Given the description of an element on the screen output the (x, y) to click on. 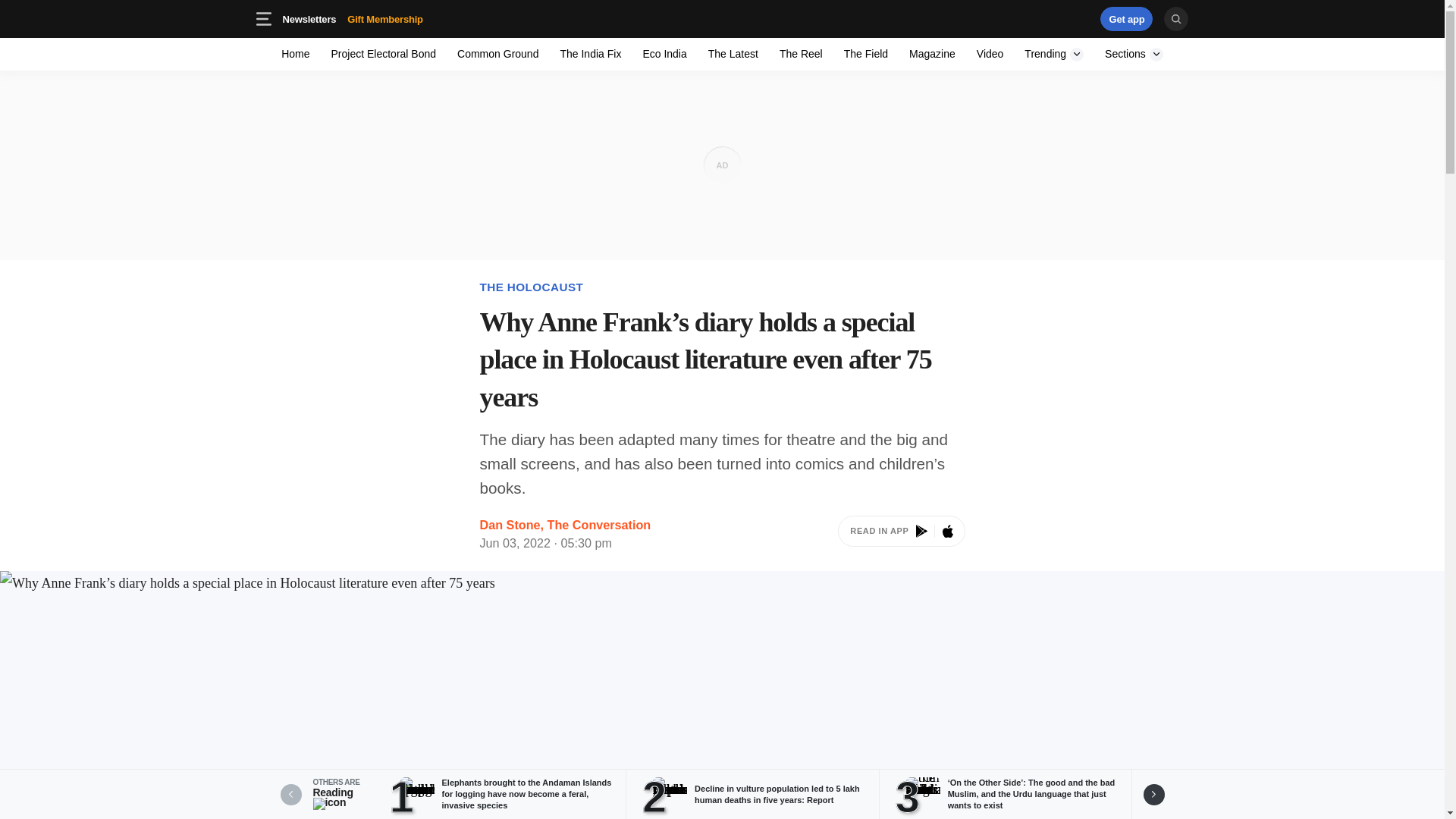
The India Fix (590, 53)
Video (721, 18)
Get app (990, 53)
Get app (1035, 18)
The Reel (1126, 18)
Sections (800, 53)
Project Electoral Bond (1134, 53)
Get app (383, 53)
Magazine (1126, 18)
Common Ground (931, 53)
Home (497, 53)
The Latest (295, 53)
Trending (732, 53)
